Given the description of an element on the screen output the (x, y) to click on. 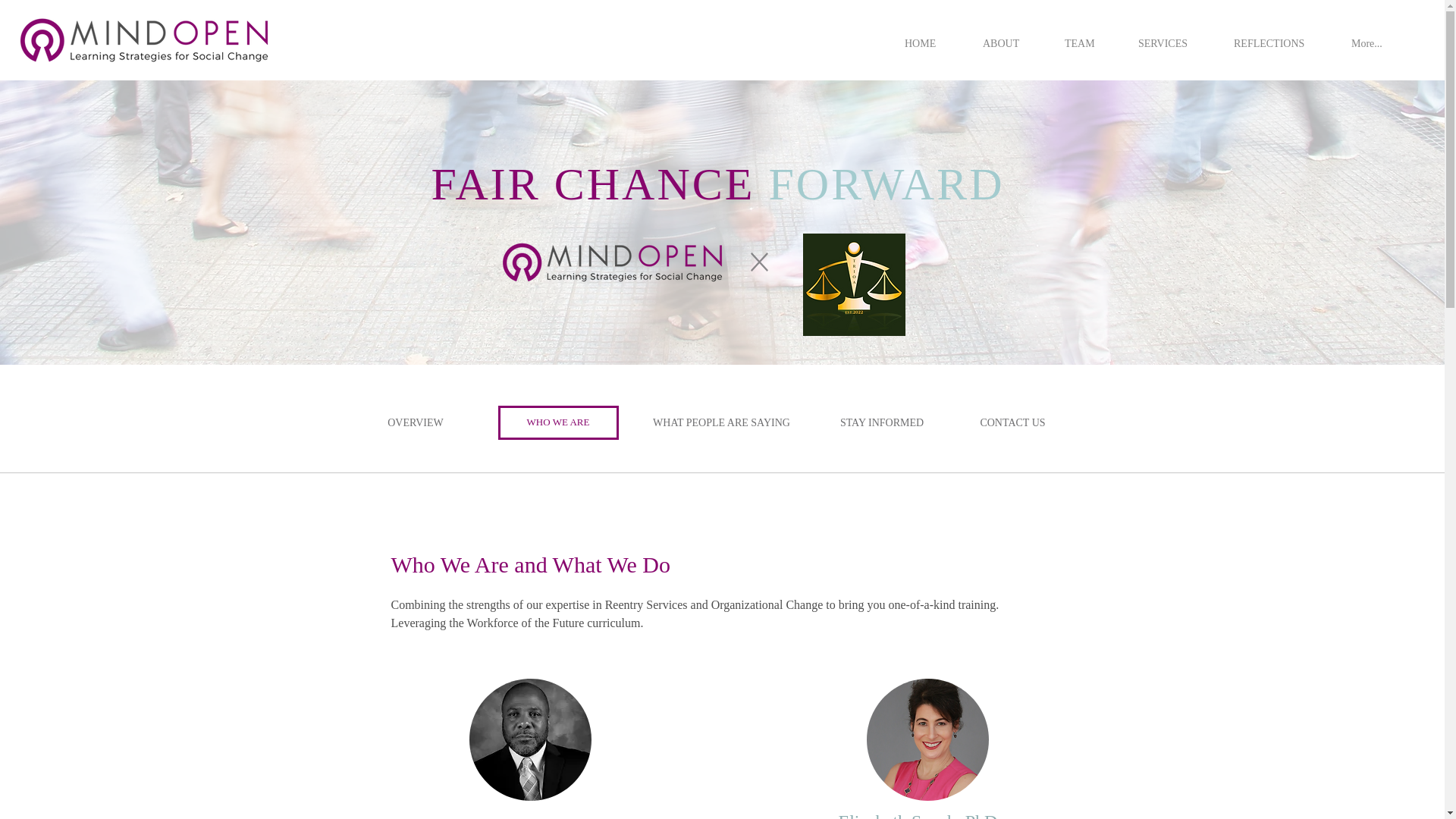
ABOUT (1005, 37)
OVERVIEW (415, 422)
WHAT PEOPLE ARE SAYING (721, 422)
REFLECTIONS (1274, 37)
TEAM (1083, 37)
WHO WE ARE (557, 422)
HOME (925, 37)
CONTACT US (1011, 422)
SERVICES (1168, 37)
STAY INFORMED (881, 422)
